Given the description of an element on the screen output the (x, y) to click on. 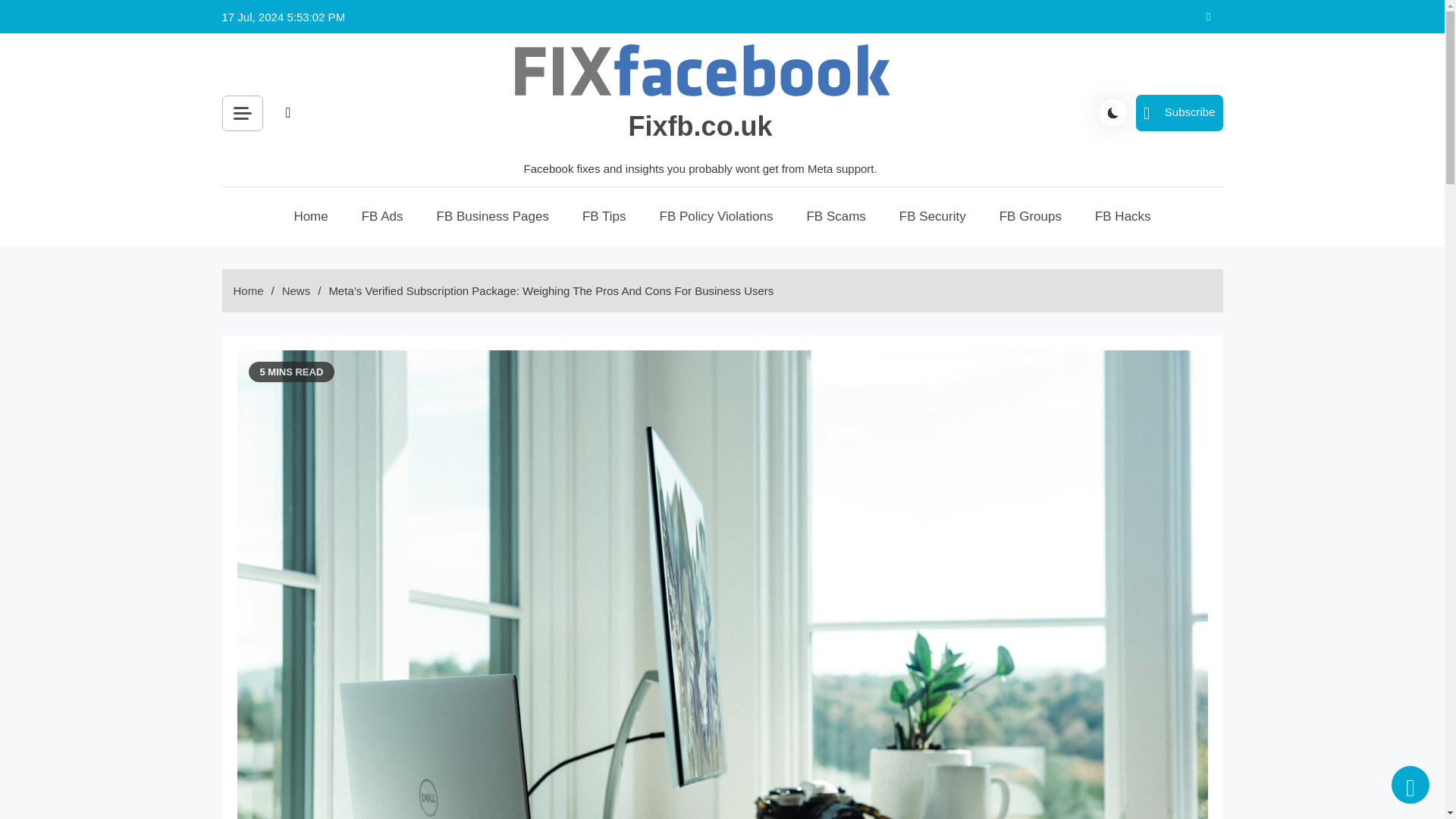
Search (458, 146)
FB Ads (382, 216)
FB Policy Violations (716, 216)
Fixfb.co.uk (700, 125)
FB Hacks (1122, 216)
FB Security (932, 216)
FB Groups (1030, 216)
FB Tips (604, 216)
Subscribe (1179, 113)
site mode button (1112, 112)
FB Business Pages (493, 216)
Home (247, 290)
FB Scams (835, 216)
Home (309, 216)
News (296, 290)
